Given the description of an element on the screen output the (x, y) to click on. 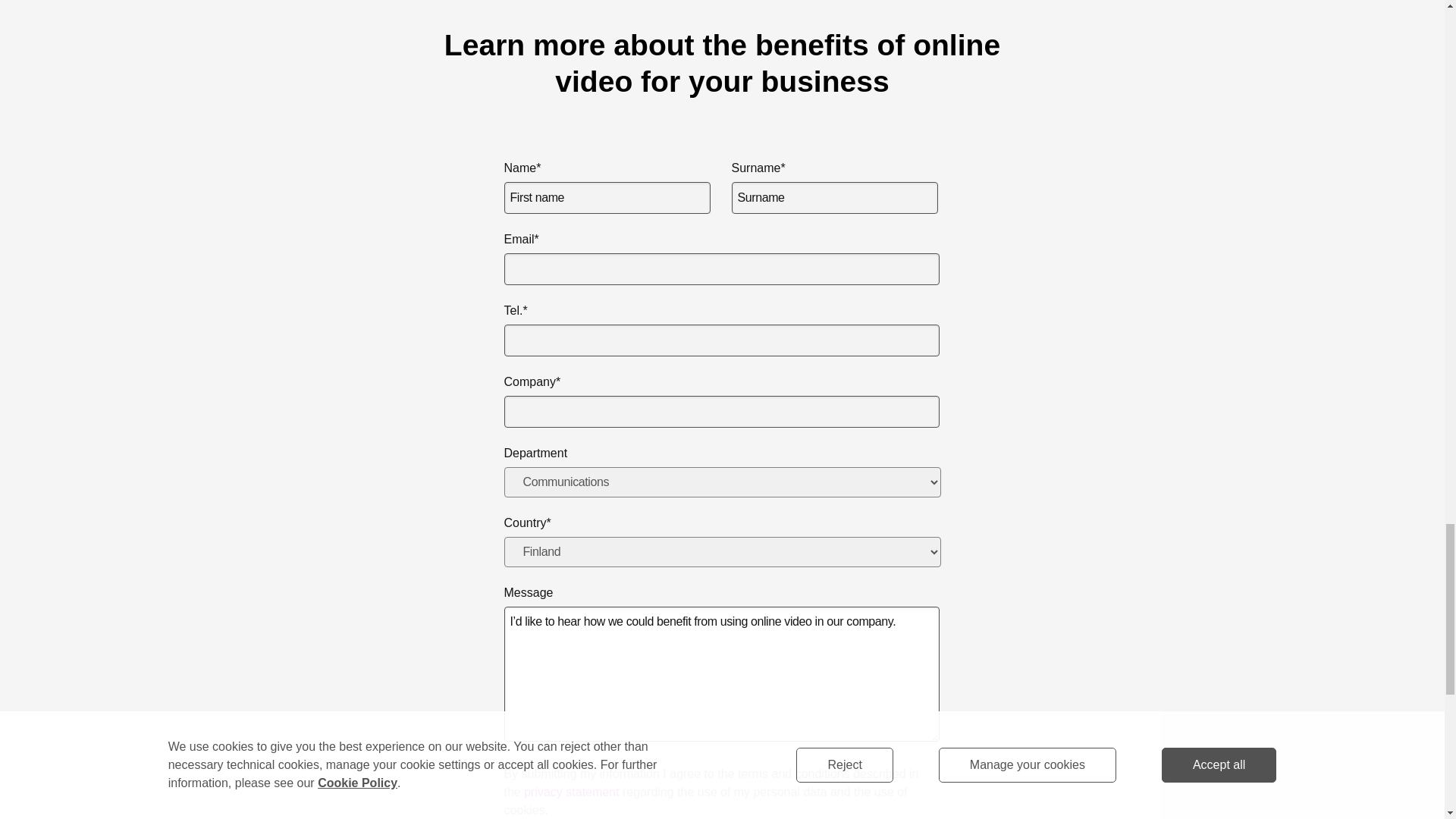
privacy statement (571, 791)
